Given the description of an element on the screen output the (x, y) to click on. 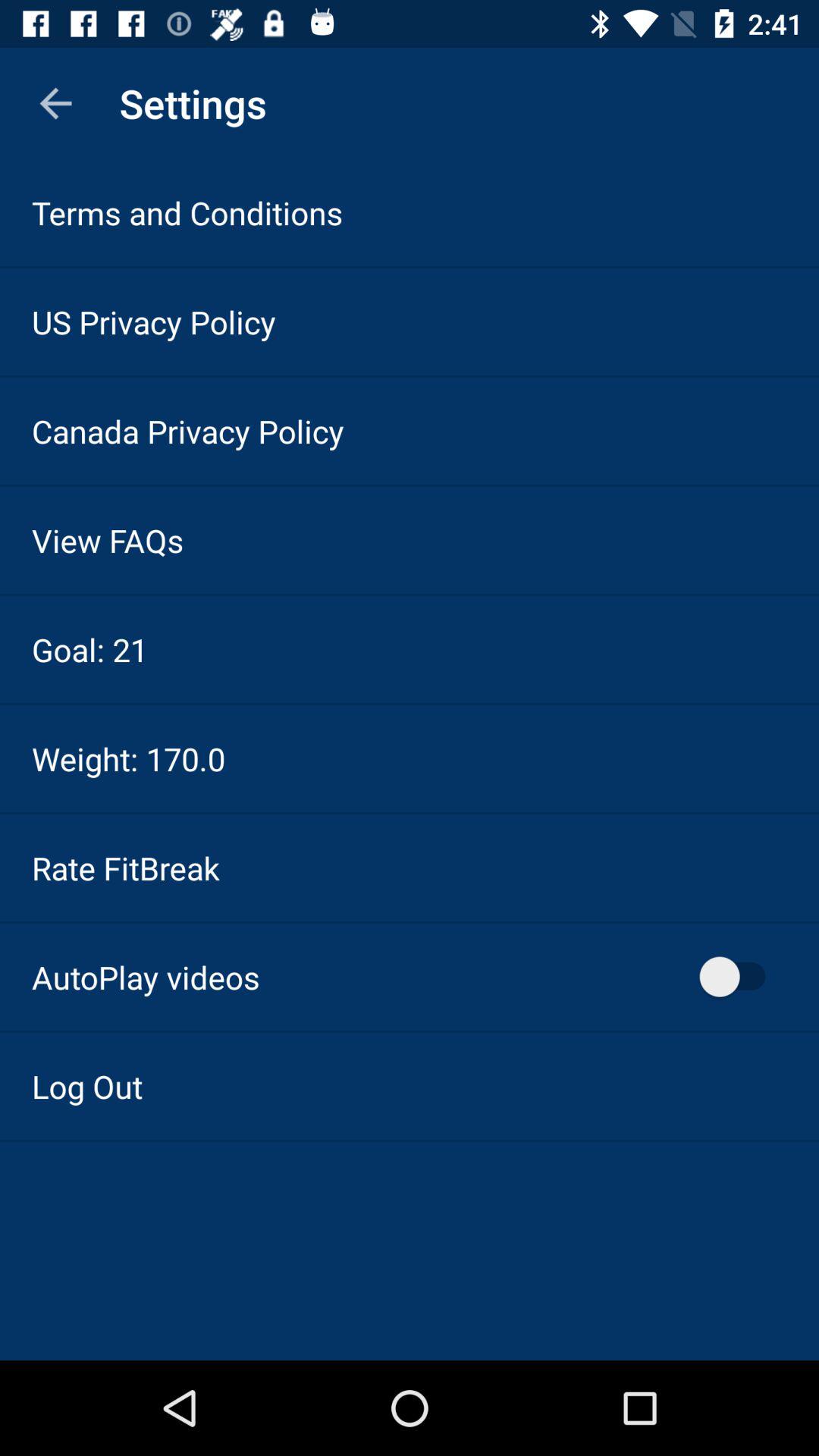
turn on icon below rate fitbreak item (145, 976)
